Given the description of an element on the screen output the (x, y) to click on. 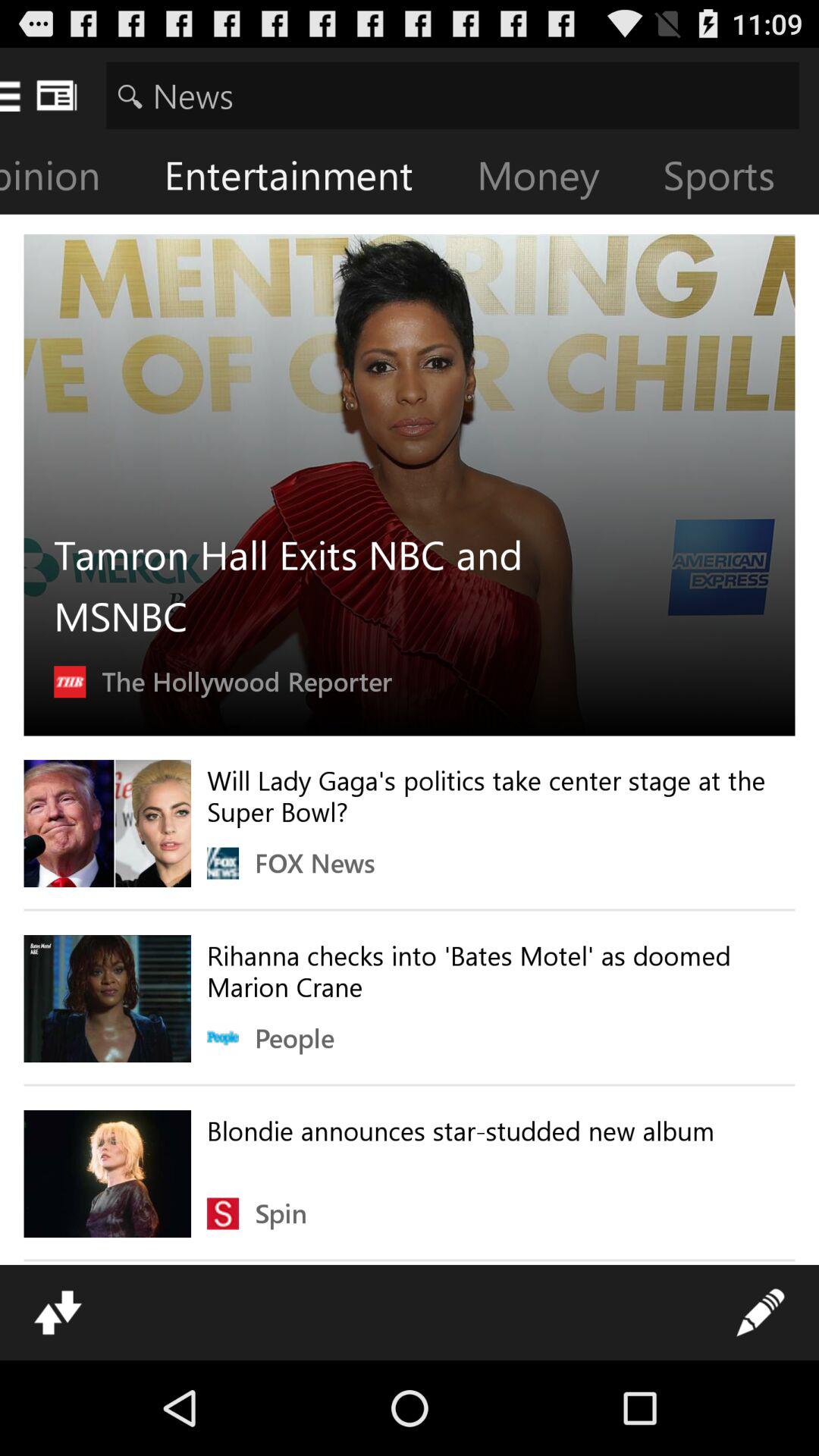
swipe until opinion item (72, 178)
